Given the description of an element on the screen output the (x, y) to click on. 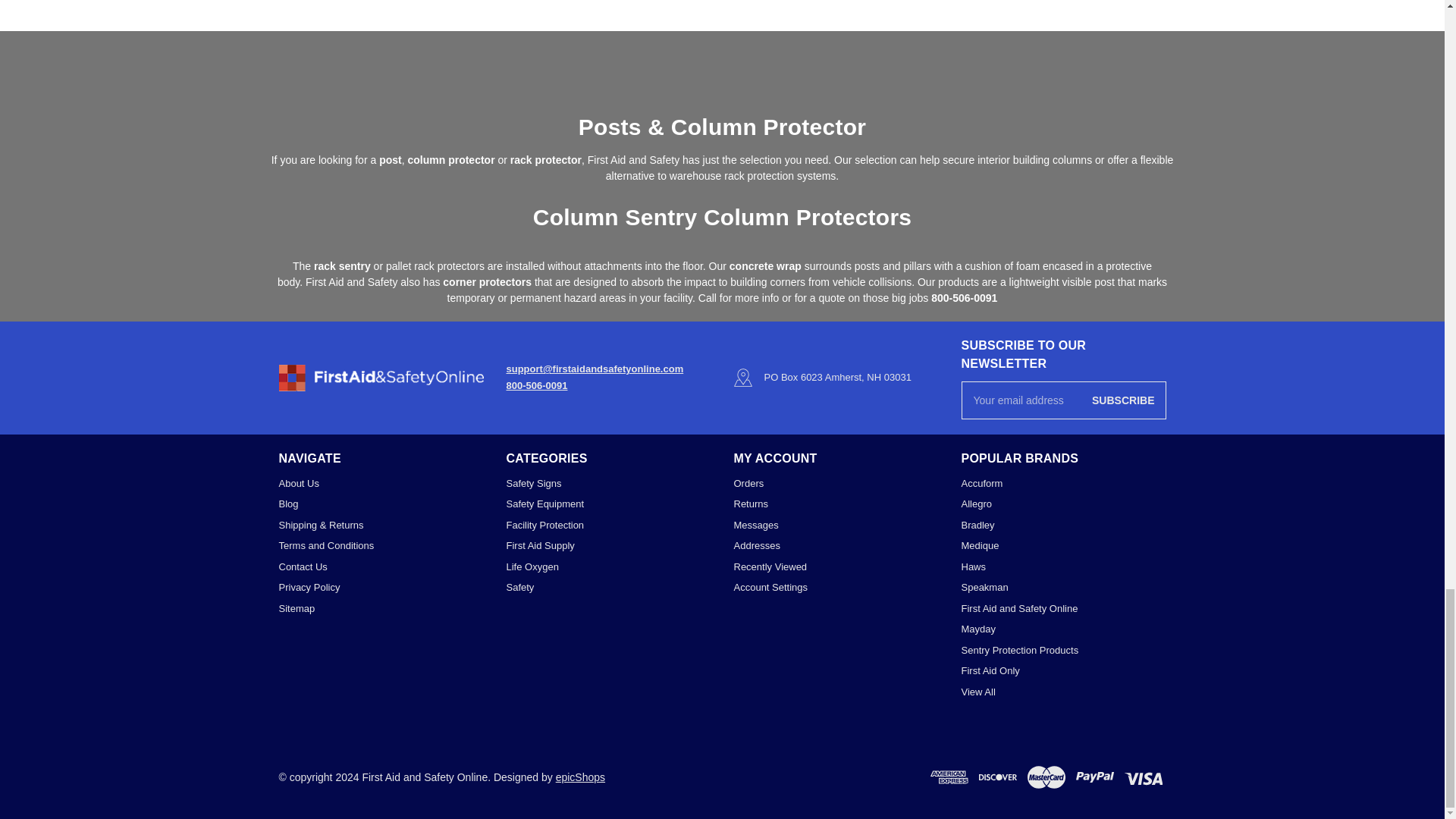
Subscribe (1123, 400)
